Given the description of an element on the screen output the (x, y) to click on. 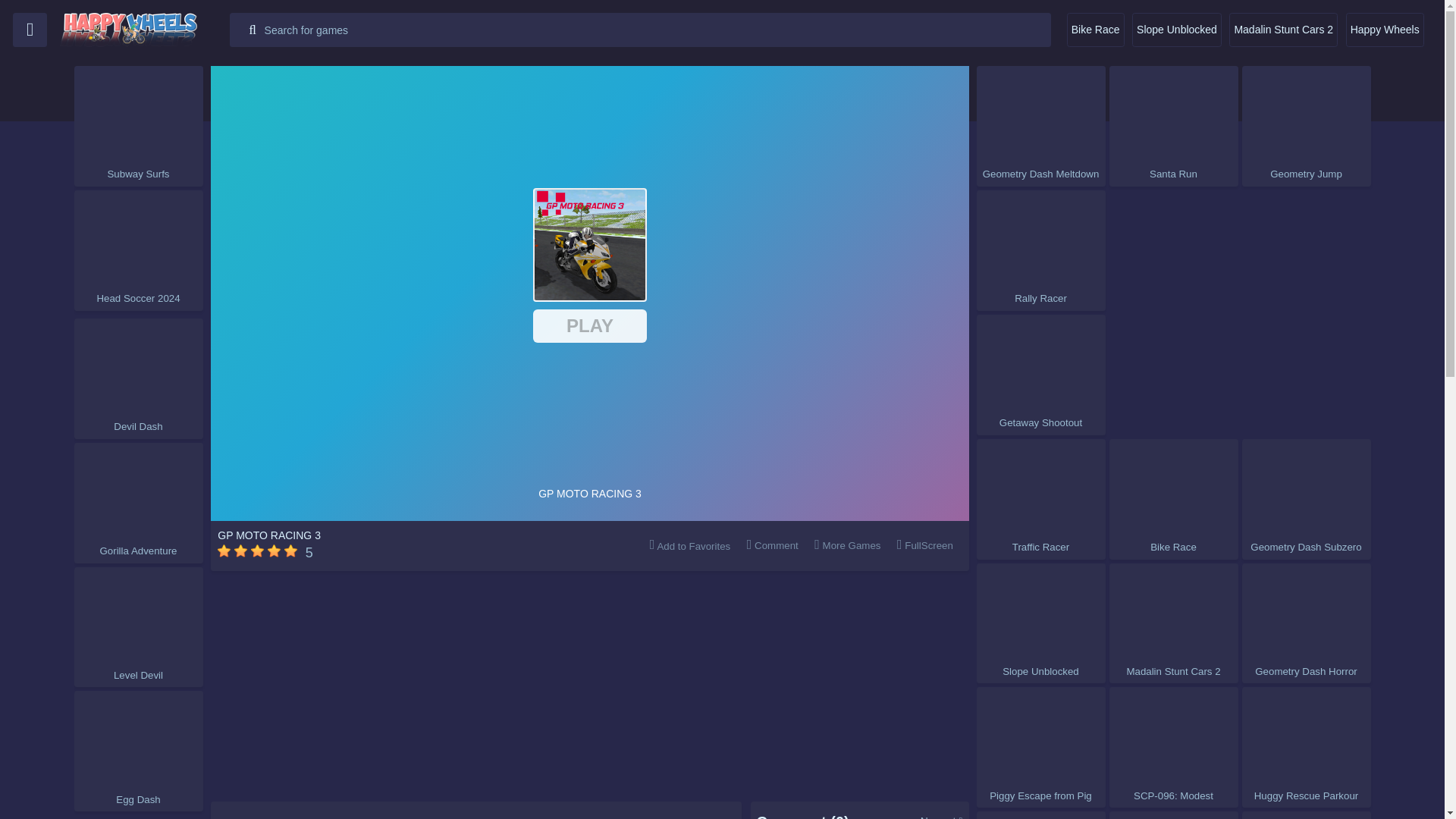
Slope Unblocked (1176, 30)
Slope Unblocked (1176, 30)
Bike Race (1095, 30)
Comment (772, 545)
Subway Surfs (138, 126)
Happy Wheels (144, 29)
Happy Wheels (1384, 30)
More Games (847, 545)
Madalin Stunt Cars 2 (1283, 30)
Devil Dash (138, 378)
Bike Race (1095, 30)
Head Soccer 2024 (138, 250)
Madalin Stunt Cars 2 (1283, 30)
Happy Wheels (1384, 30)
